Given the description of an element on the screen output the (x, y) to click on. 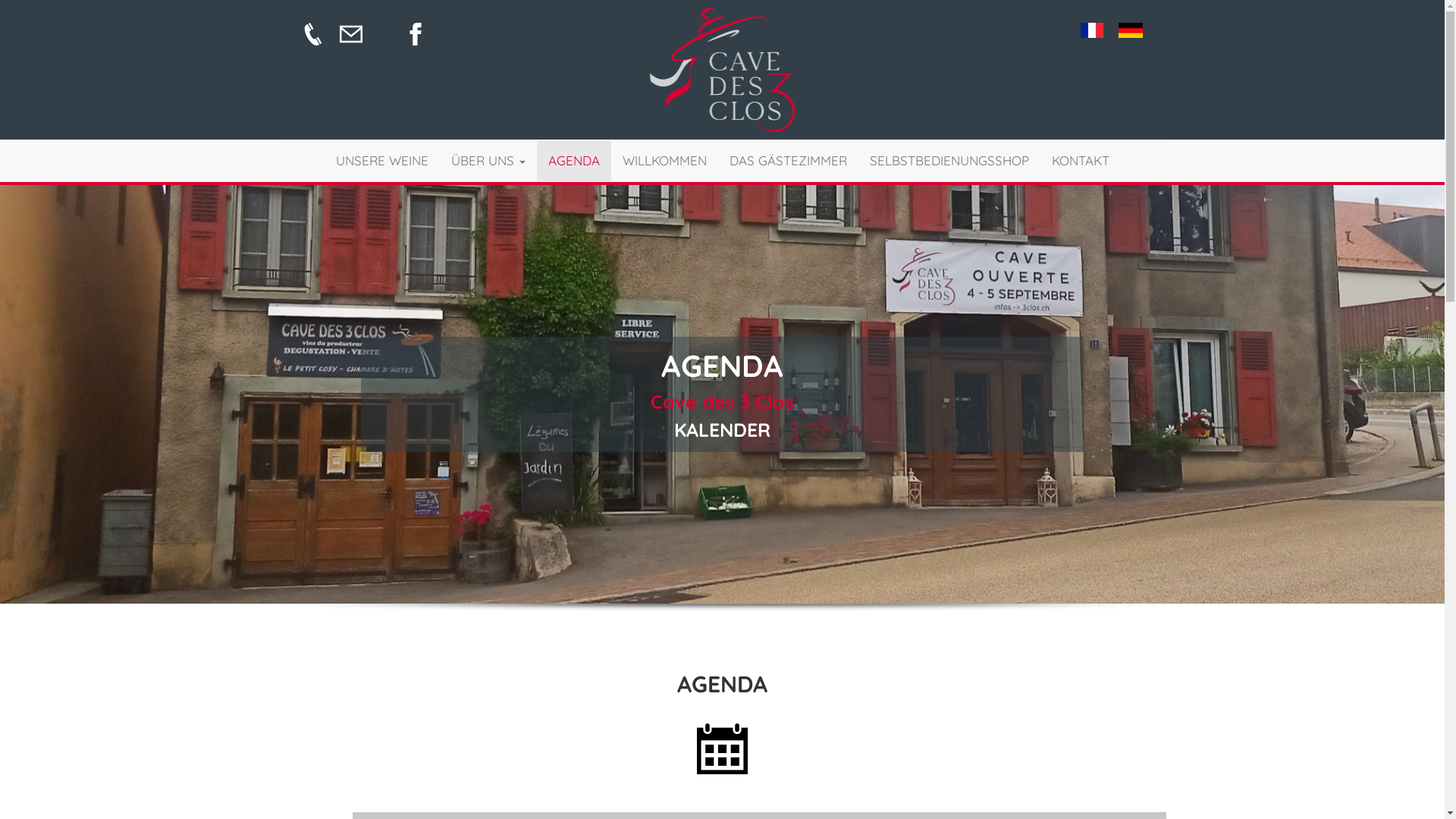
UNSERE WEINE Element type: text (381, 160)
KONTAKT Element type: text (1080, 160)
WILLKOMMEN Element type: text (664, 160)
AGENDA Element type: text (573, 160)
SELBSTBEDIENUNGSSHOP Element type: text (949, 160)
